Given the description of an element on the screen output the (x, y) to click on. 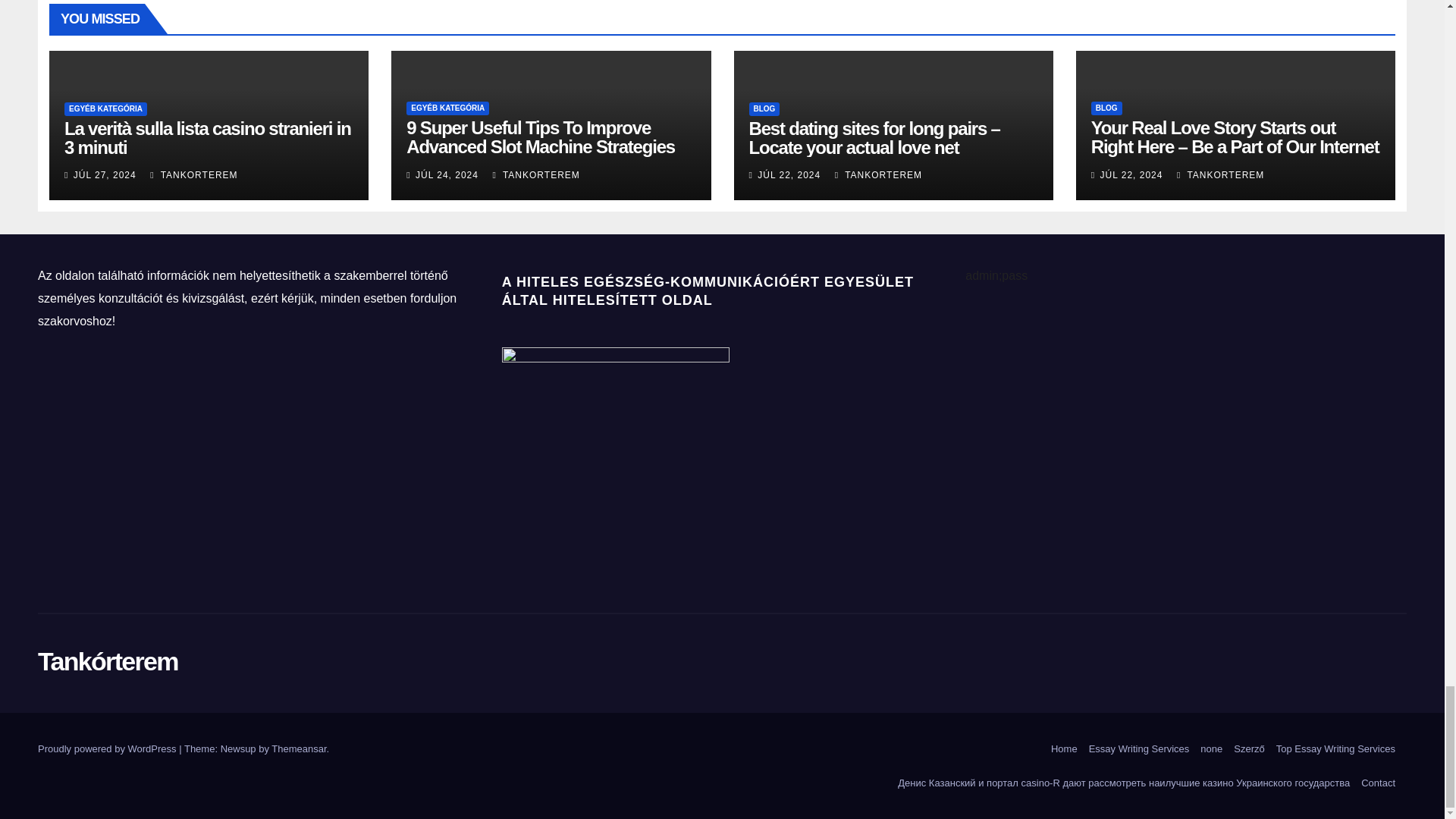
Home (1064, 748)
